Given the description of an element on the screen output the (x, y) to click on. 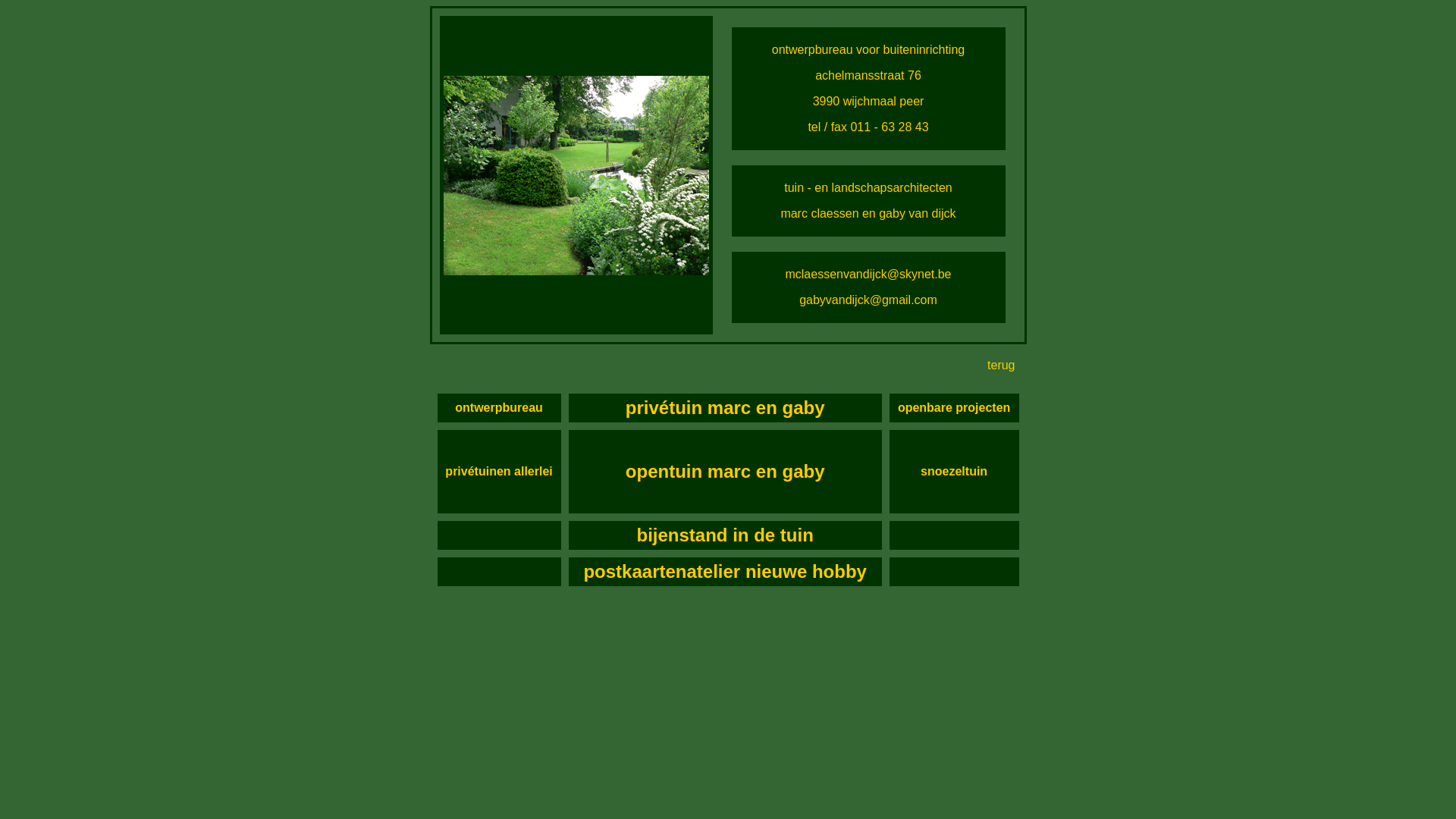
mclaessenvandijck@skynet.be Element type: text (867, 273)
gabyvandijck@gmail.com Element type: text (868, 299)
terug Element type: text (1000, 363)
postkaartenatelier nieuwe hobby Element type: text (724, 571)
opentuin marc en gaby Element type: text (725, 471)
snoezeltuin Element type: text (953, 470)
ontwerpbureau Element type: text (498, 407)
openbare projecten Element type: text (953, 407)
bijenstand in de tuin Element type: text (725, 534)
